Given the description of an element on the screen output the (x, y) to click on. 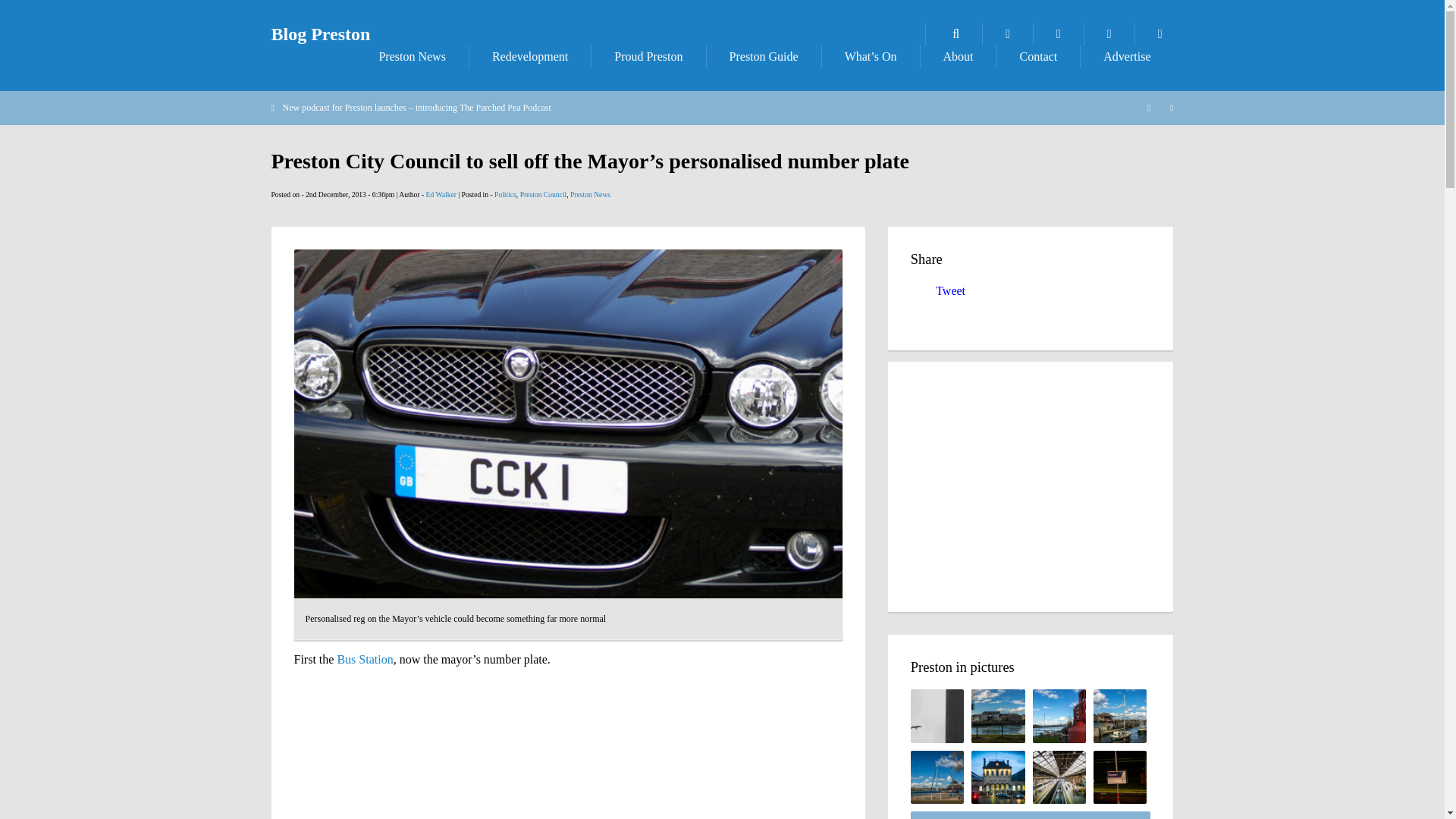
About (957, 56)
About Blog Preston (957, 56)
Ed Walker (441, 194)
Blog Preston (320, 33)
Contact Blog Preston (1038, 56)
Blog Preston (320, 33)
Proud Preston (647, 56)
Redevelopment news in and around Preston (529, 56)
Proud Preston (647, 56)
Blog Preston on Instagram (1160, 33)
Tweet (950, 290)
Photos from around Preston (1007, 33)
Preston Council (543, 194)
View more (1031, 815)
Contact (1038, 56)
